Given the description of an element on the screen output the (x, y) to click on. 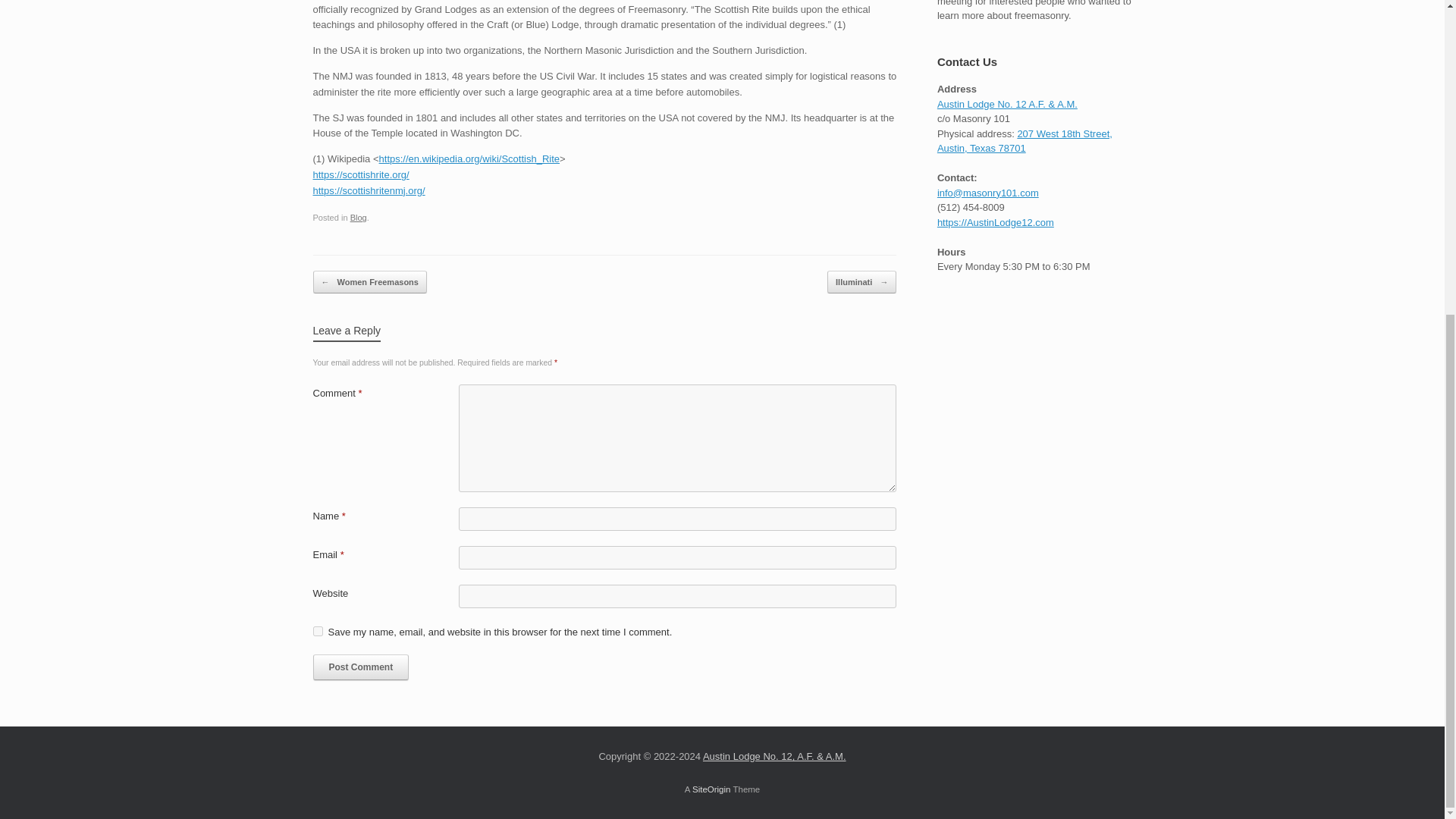
SiteOrigin (711, 788)
yes (317, 631)
207 West 18th Street, Austin, Texas 78701 (1024, 140)
Post Comment (361, 667)
Post Comment (361, 667)
Blog (358, 216)
